Given the description of an element on the screen output the (x, y) to click on. 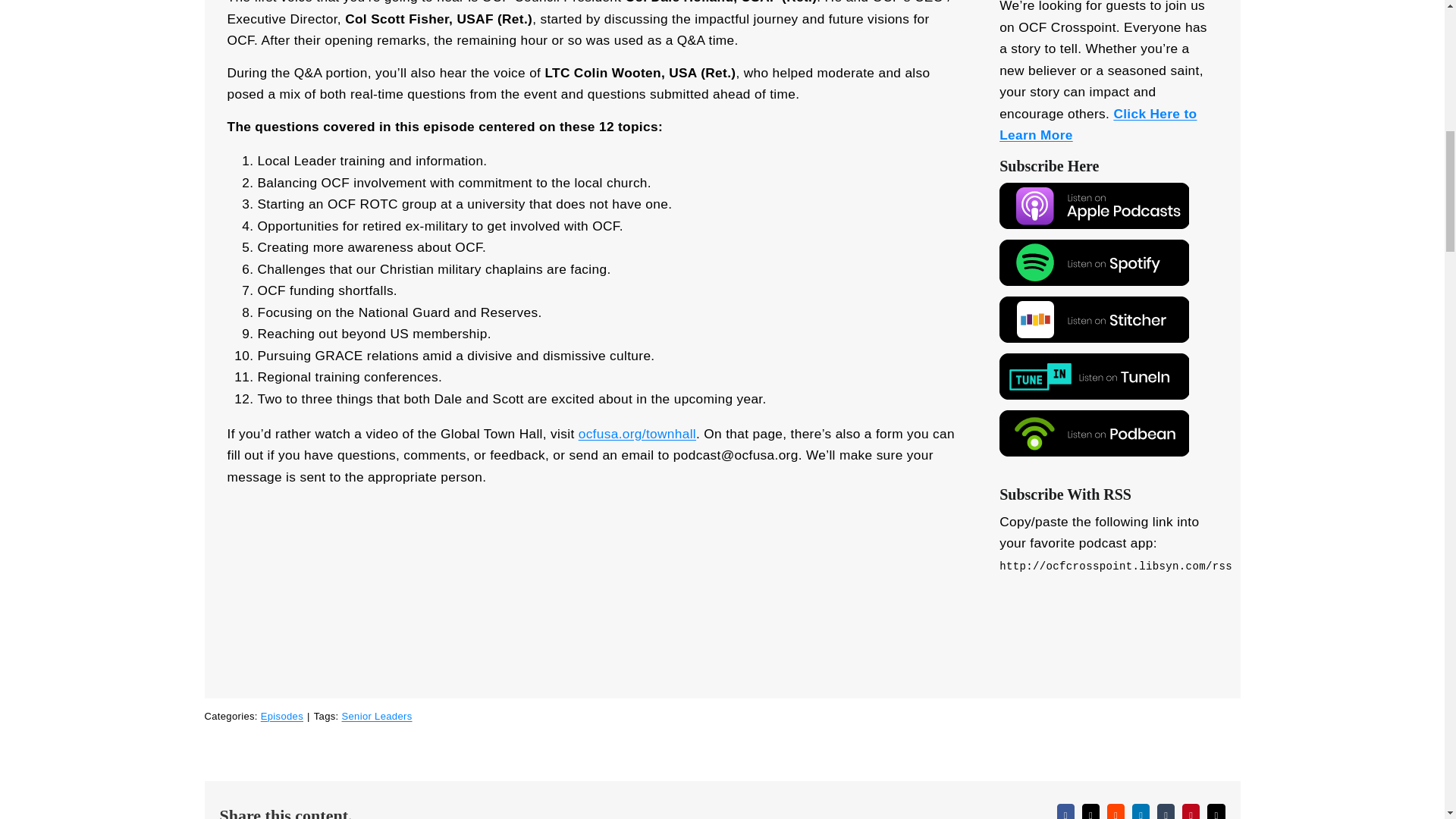
Pinterest (1190, 811)
Facebook (1065, 811)
Tumblr (1165, 811)
LinkedIn (1141, 811)
Reddit (1115, 811)
X (1090, 811)
Email (1215, 811)
